Given the description of an element on the screen output the (x, y) to click on. 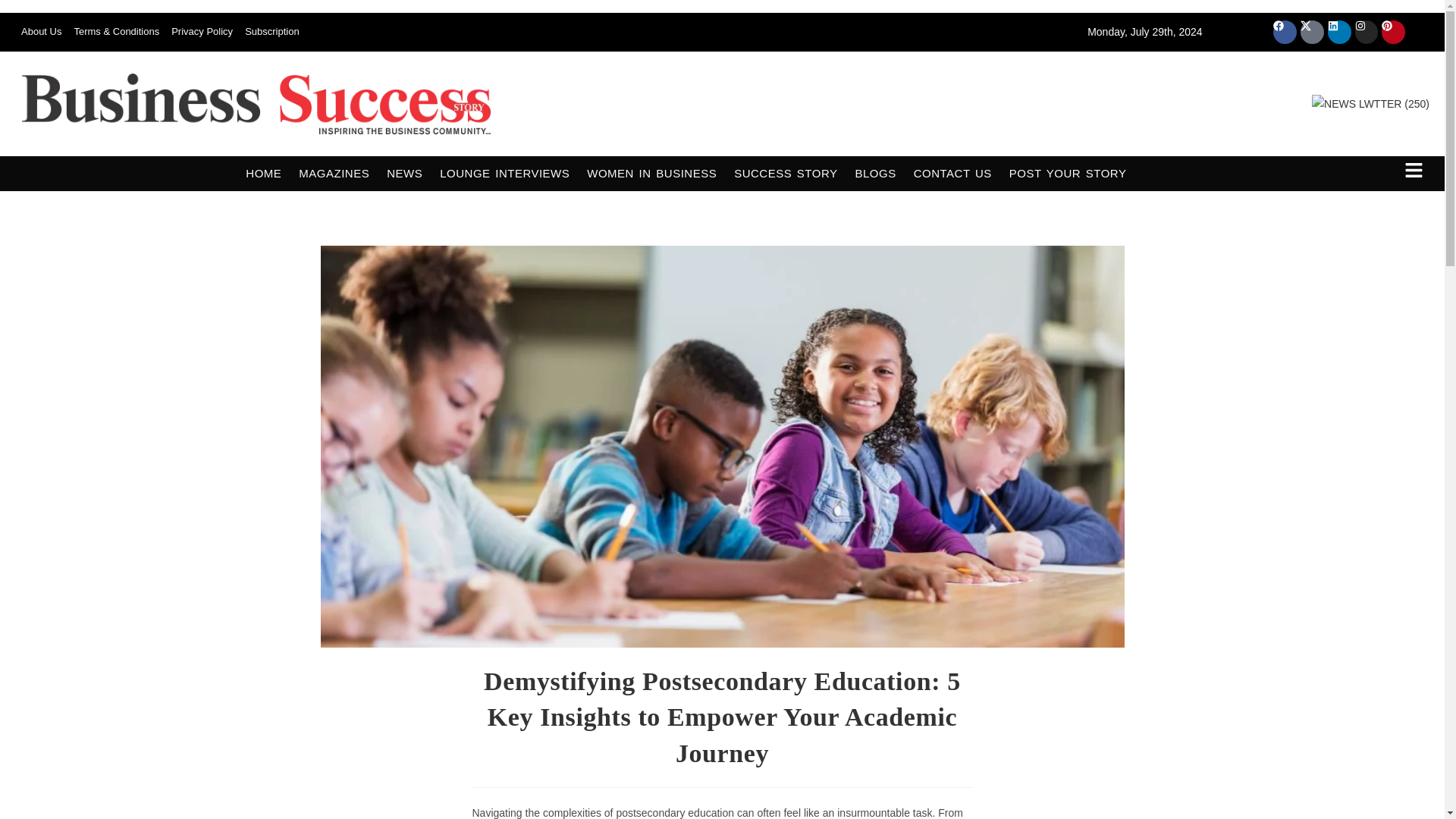
LOUNGE INTERVIEWS (504, 173)
POST YOUR STORY (1067, 173)
BLOGS (874, 173)
WOMEN IN BUSINESS (651, 173)
About Us (40, 31)
Subscription (271, 31)
NEWS (404, 173)
SUCCESS STORY (785, 173)
CONTACT US (952, 173)
MAGAZINES (333, 173)
Privacy Policy (201, 31)
HOME (263, 173)
